Given the description of an element on the screen output the (x, y) to click on. 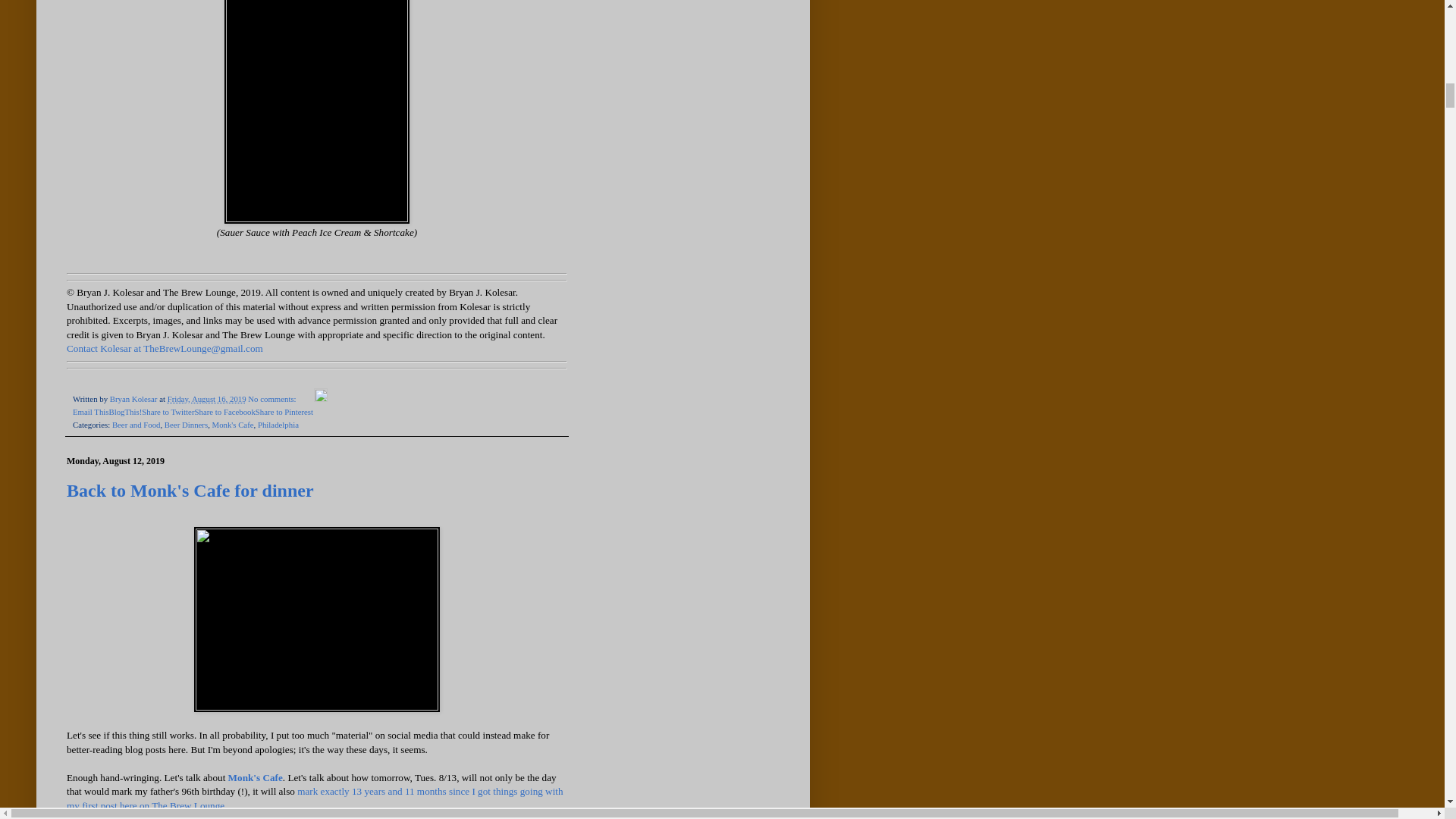
author profile (134, 398)
Monk's Cafe (232, 424)
BlogThis! (124, 411)
Email This (89, 411)
permanent link (206, 398)
Friday, August 16, 2019 (206, 398)
Email This (89, 411)
Email Post (306, 398)
Share to Twitter (167, 411)
Share to Facebook (223, 411)
Share to Pinterest (284, 411)
Bryan Kolesar (134, 398)
Monk's Cafe (255, 777)
Beer Dinners (186, 424)
